Given the description of an element on the screen output the (x, y) to click on. 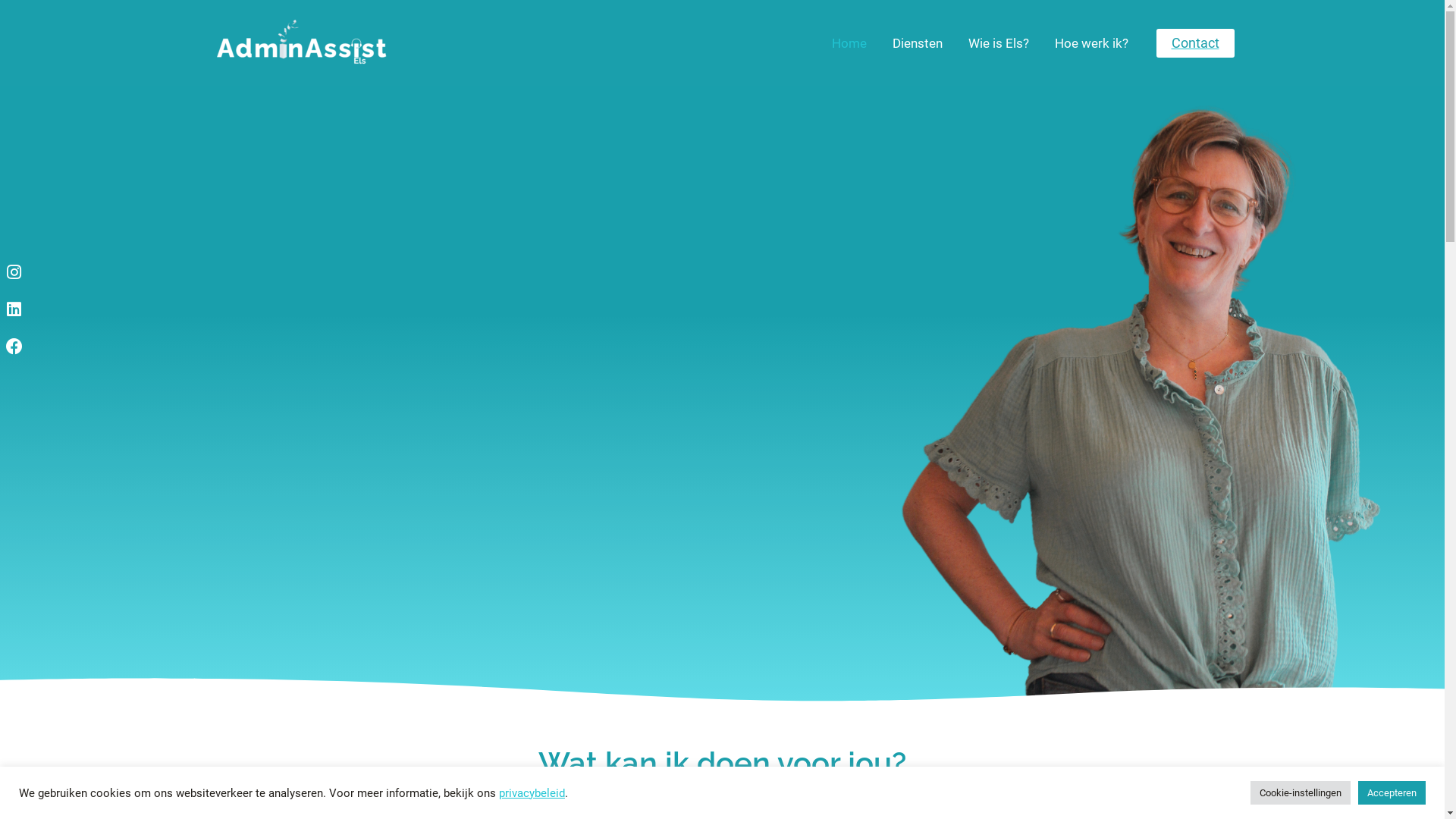
Diensten Element type: text (917, 42)
Home Element type: text (849, 42)
privacybeleid Element type: text (531, 792)
Hoe werk ik? Element type: text (1091, 42)
Wie is Els? Element type: text (998, 42)
Contact Element type: text (1194, 42)
Accepteren Element type: text (1391, 792)
Cookie-instellingen Element type: text (1300, 792)
